Given the description of an element on the screen output the (x, y) to click on. 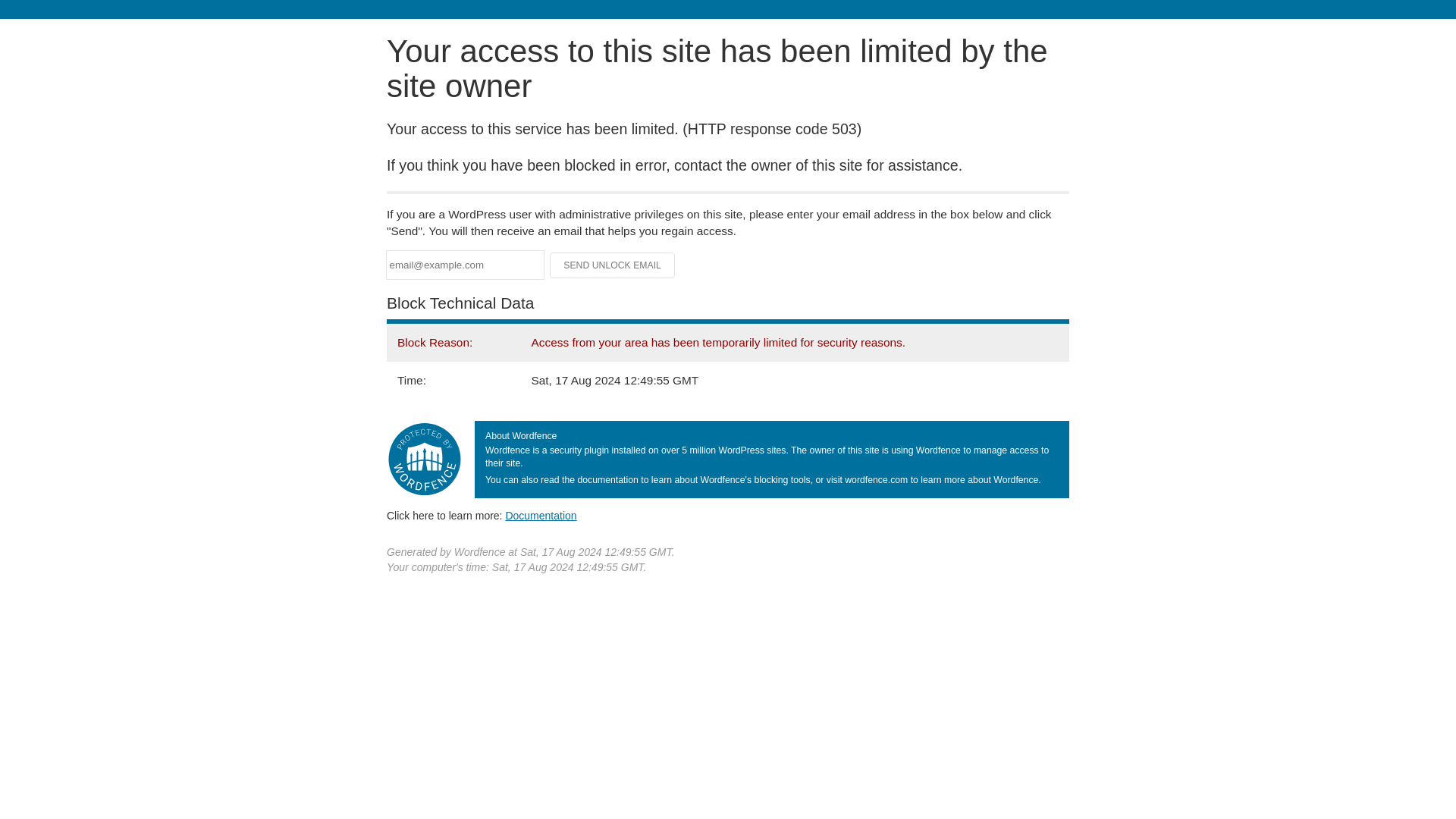
Documentation (540, 515)
Send Unlock Email (612, 265)
Send Unlock Email (612, 265)
